Given the description of an element on the screen output the (x, y) to click on. 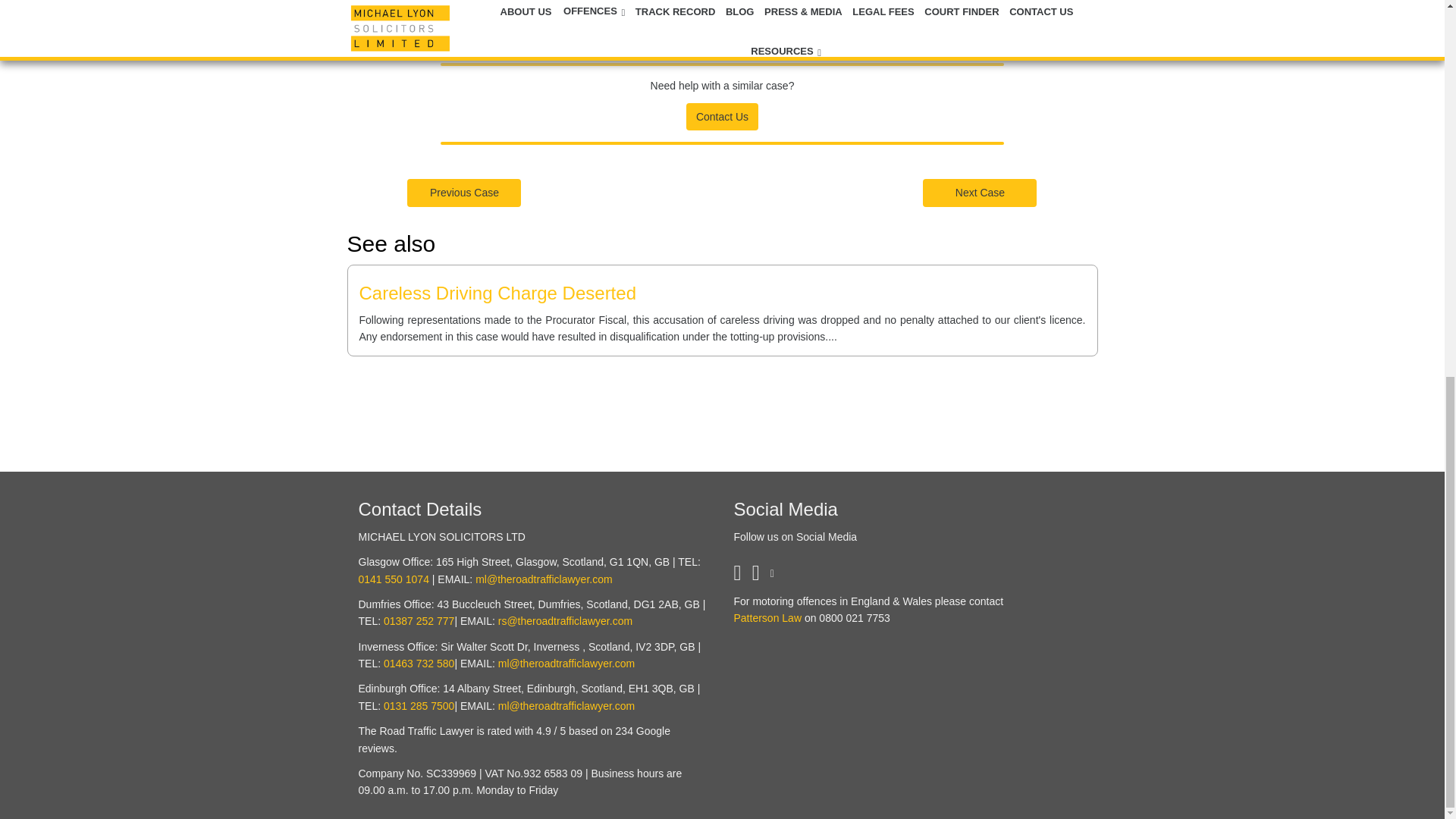
Previous Case (464, 192)
Next Case (979, 191)
Next Case (979, 192)
Contact Us (721, 115)
Previous Case (464, 191)
0141 550 1074 (393, 579)
Careless Driving Charge Deserted (497, 292)
